Given the description of an element on the screen output the (x, y) to click on. 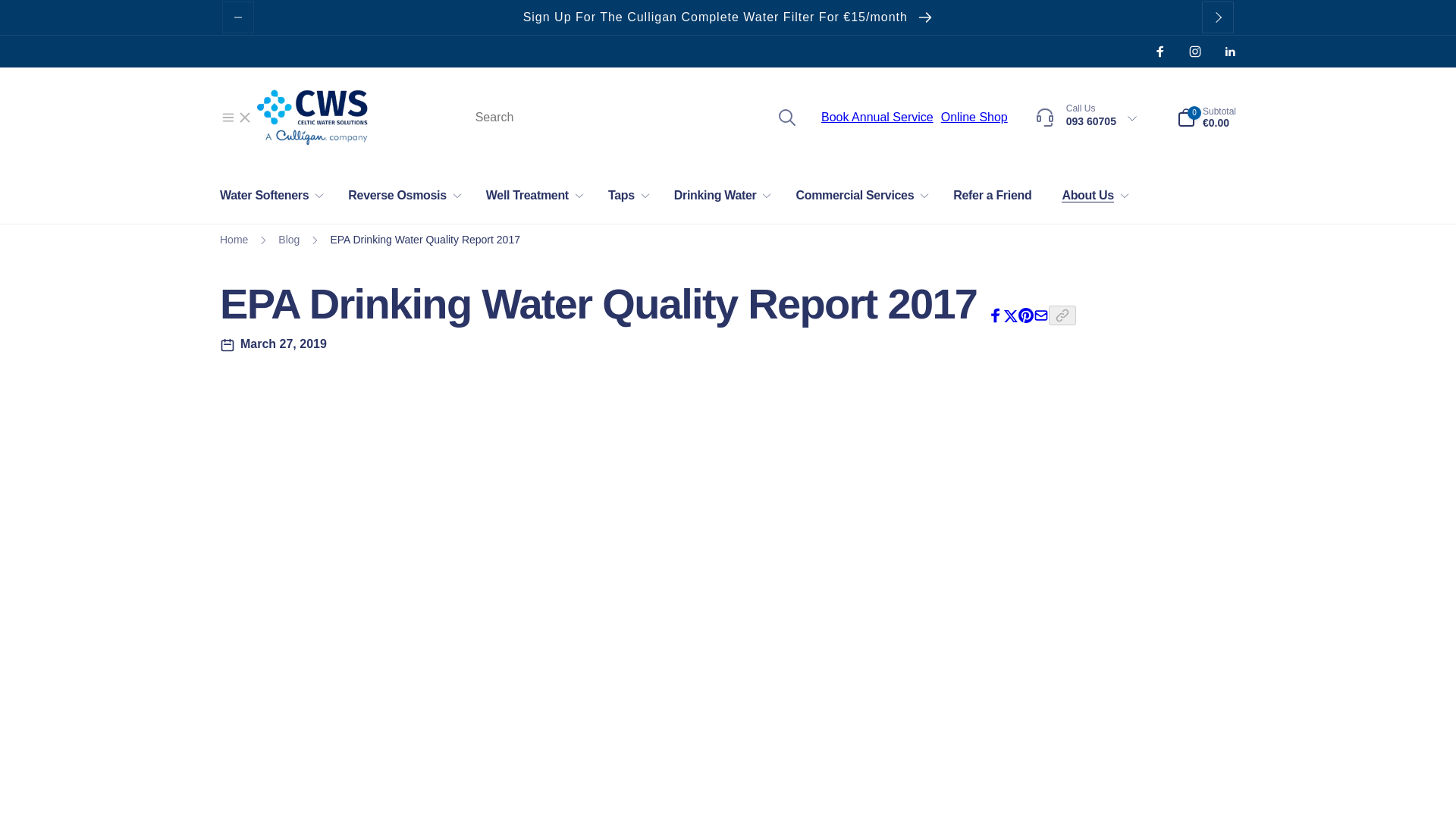
Skip to content (16, 8)
Linkedin (1230, 51)
Instagram (1195, 51)
Facebook (1160, 51)
